Given the description of an element on the screen output the (x, y) to click on. 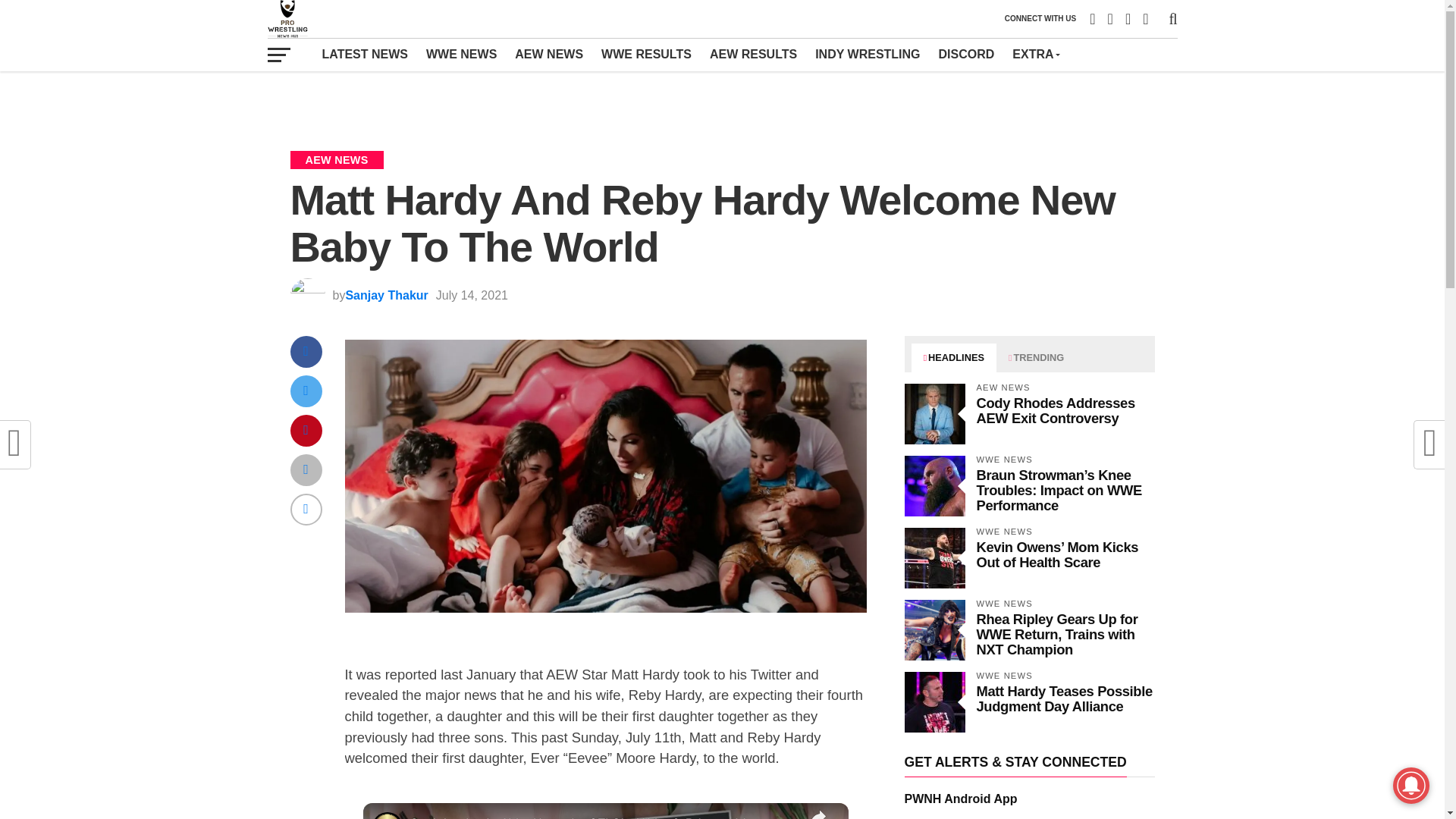
EXTRA (1035, 54)
DISCORD (967, 54)
WWE NEWS (460, 54)
AEW RESULTS (753, 54)
AEW NEWS (548, 54)
LATEST NEWS (364, 54)
Posts by Sanjay Thakur (386, 295)
WWE RESULTS (646, 54)
INDY WRESTLING (867, 54)
